Given the description of an element on the screen output the (x, y) to click on. 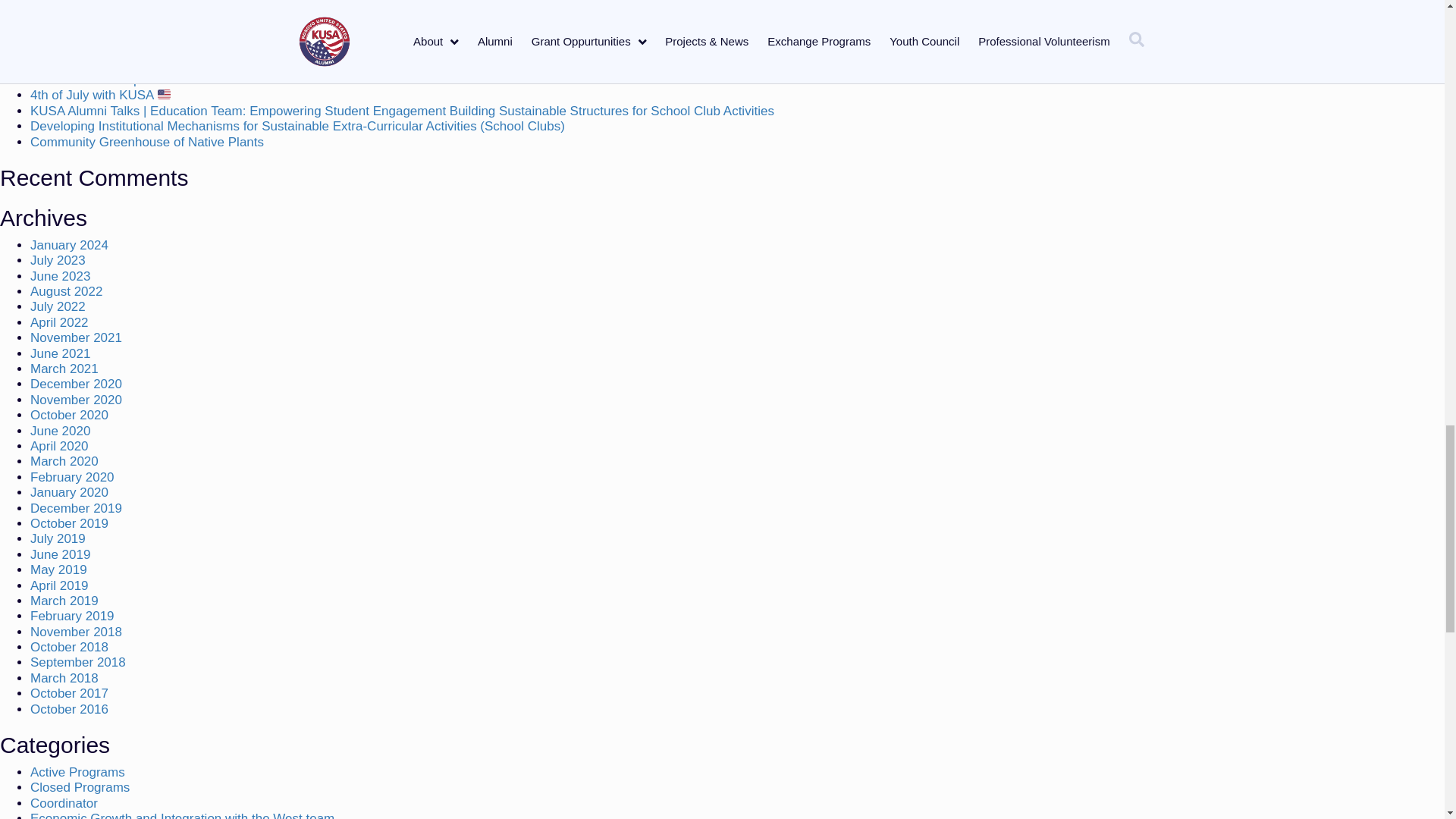
Search (202, 10)
Search (202, 10)
